Given the description of an element on the screen output the (x, y) to click on. 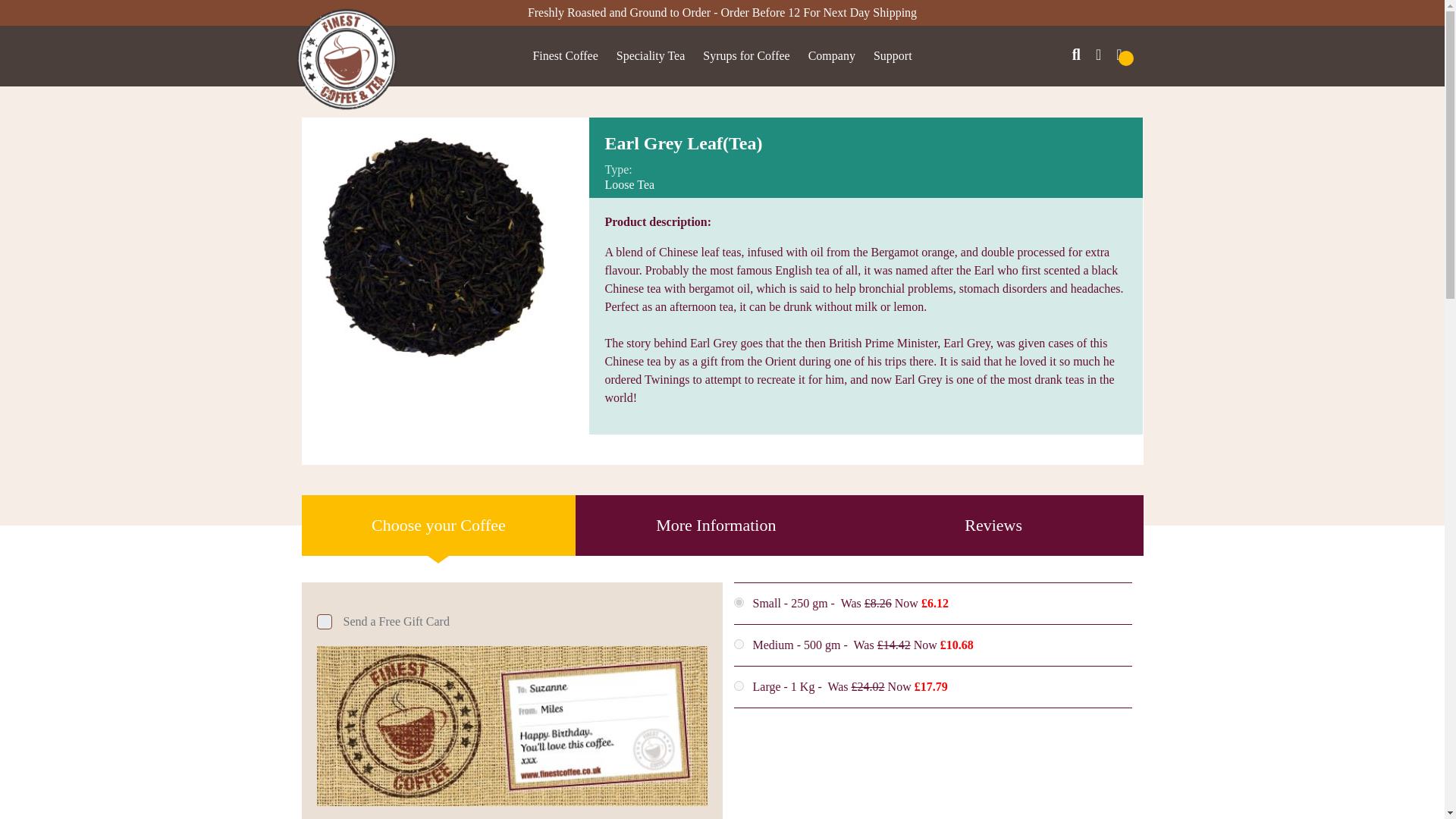
Choose your Coffee (438, 525)
Company (832, 55)
Speciality Tea (364, 139)
Finest Coffee (564, 55)
Syrups for Coffee (746, 55)
Speciality Tea (650, 55)
Home (314, 139)
444 (738, 644)
Home (314, 139)
445 (738, 602)
443 (738, 685)
More Information (715, 525)
Loose Tea (424, 139)
Loose Tea (424, 139)
Reviews (993, 525)
